Given the description of an element on the screen output the (x, y) to click on. 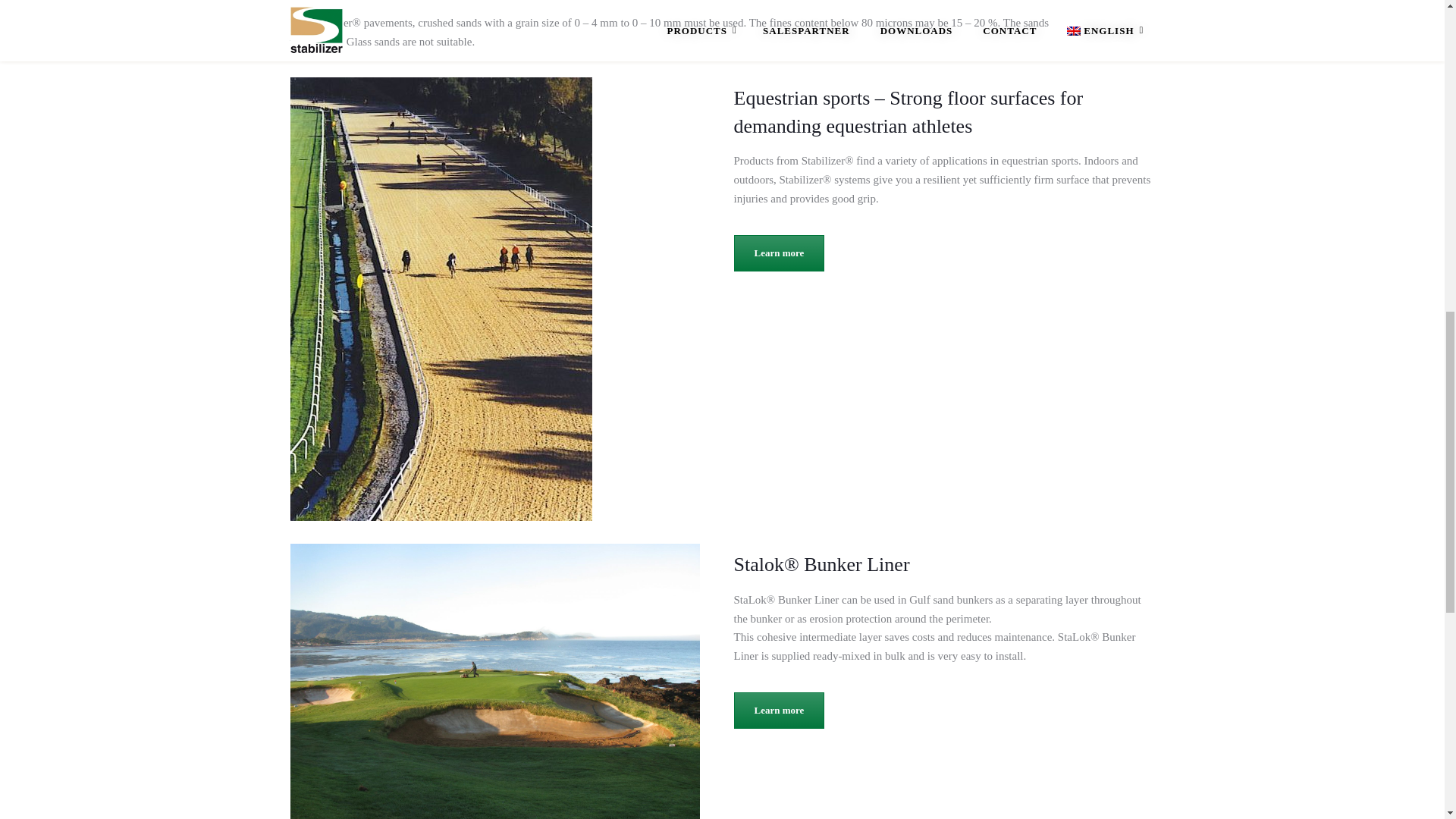
Bunker-stabalizer-043-e1585916261292 (493, 681)
Learn more (779, 710)
Learn more (779, 253)
